Given the description of an element on the screen output the (x, y) to click on. 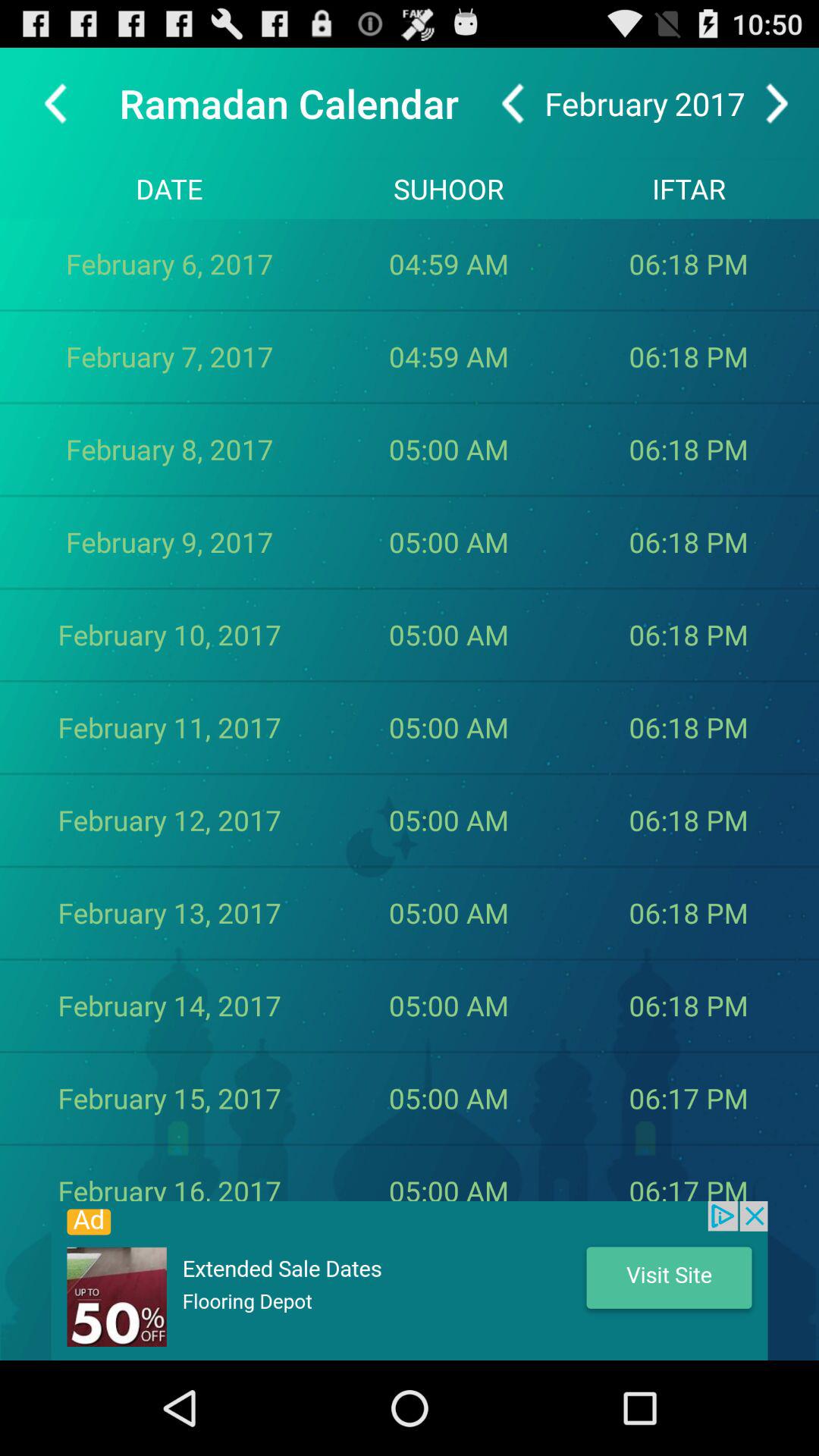
undo (512, 103)
